Given the description of an element on the screen output the (x, y) to click on. 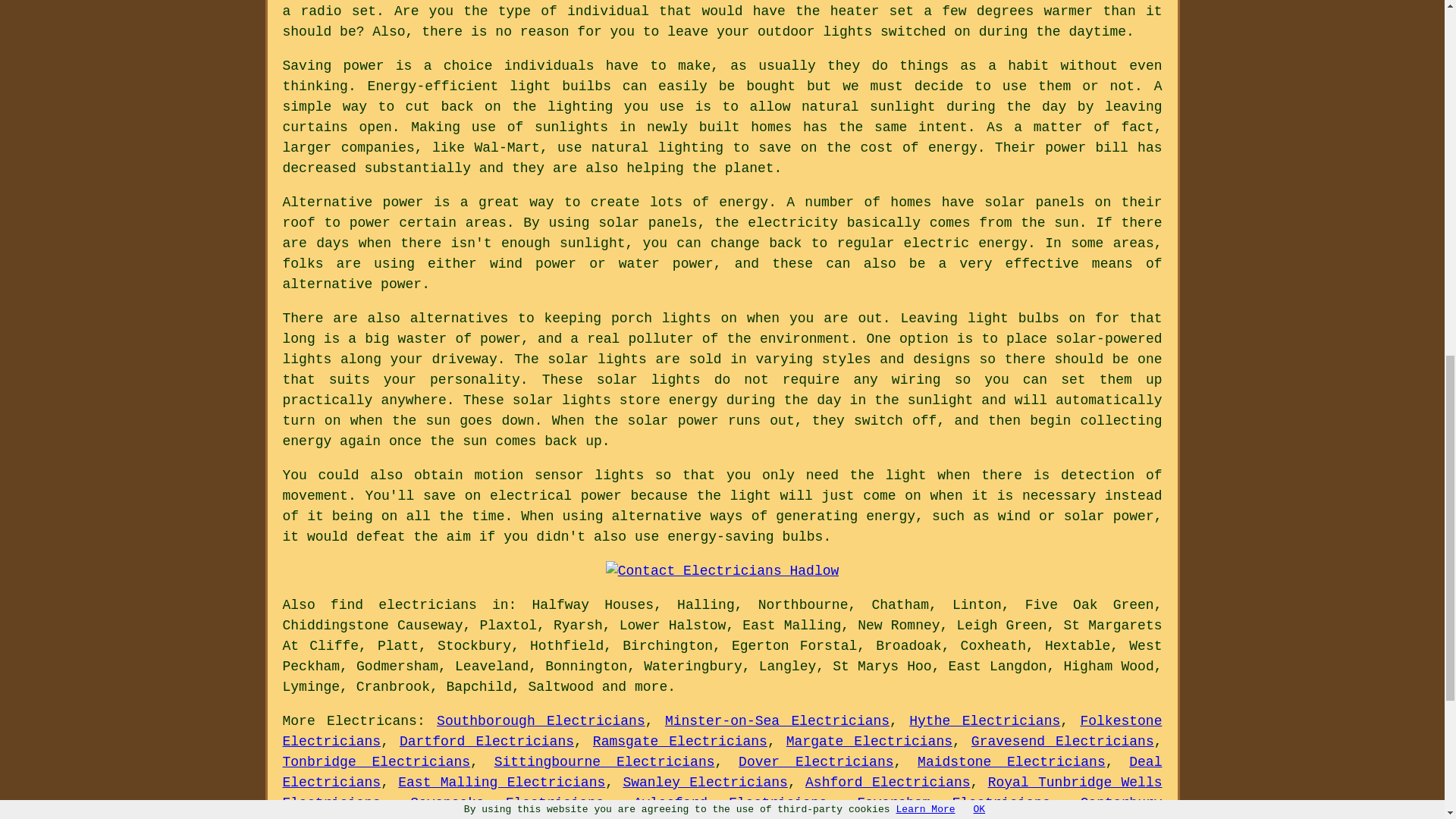
Dartford Electricians (485, 741)
Dover Electricians (815, 761)
Hythe Electricians (983, 720)
Folkestone Electricians (721, 731)
Ramsgate Electricians (679, 741)
Maidstone Electricians (1011, 761)
Contact Electricians Hadlow (722, 571)
Sittingbourne Electricians (604, 761)
Gravesend Electricians (1062, 741)
East Malling Electricians (501, 782)
